Given the description of an element on the screen output the (x, y) to click on. 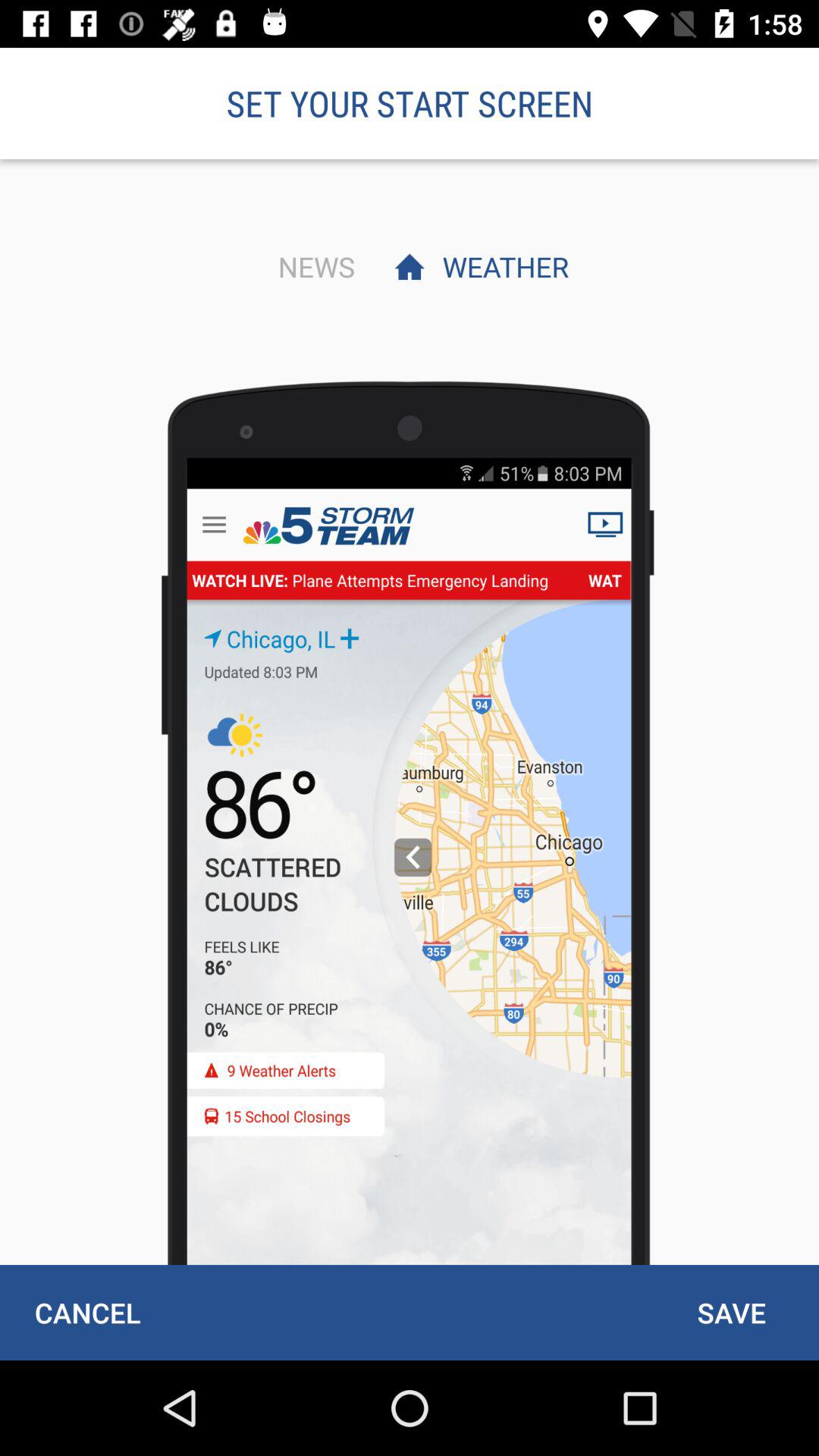
scroll to save icon (731, 1312)
